Given the description of an element on the screen output the (x, y) to click on. 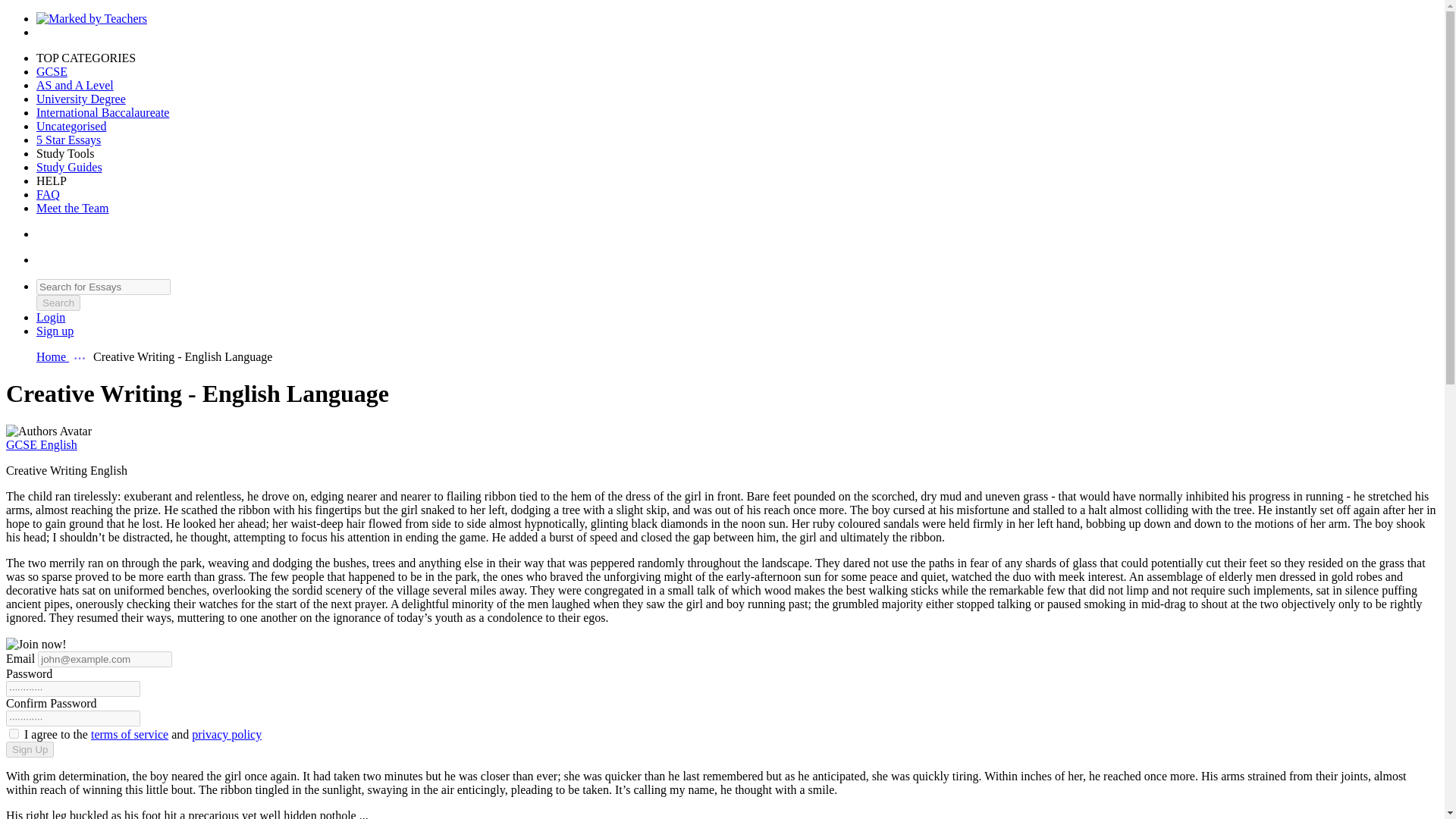
Sign Up (55, 330)
GCSE (22, 444)
International Baccalaureate (102, 112)
GCSE (51, 71)
Study Guides (68, 166)
Login (50, 317)
International Baccalaureate (102, 112)
5 Star Essays (68, 139)
University Degree (80, 98)
GCSE (51, 71)
